Given the description of an element on the screen output the (x, y) to click on. 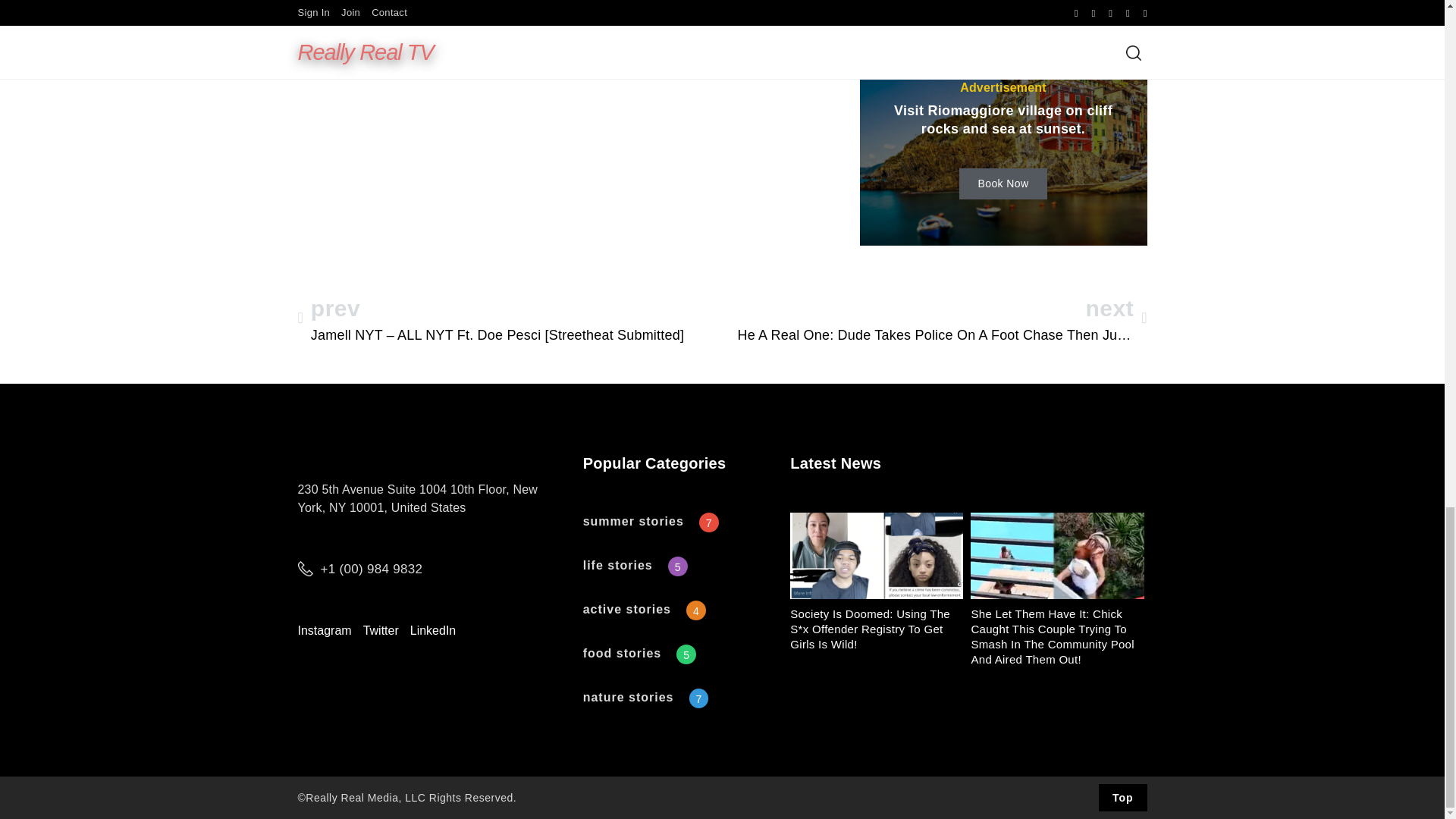
Instagram (323, 630)
Twitter (380, 630)
